Given the description of an element on the screen output the (x, y) to click on. 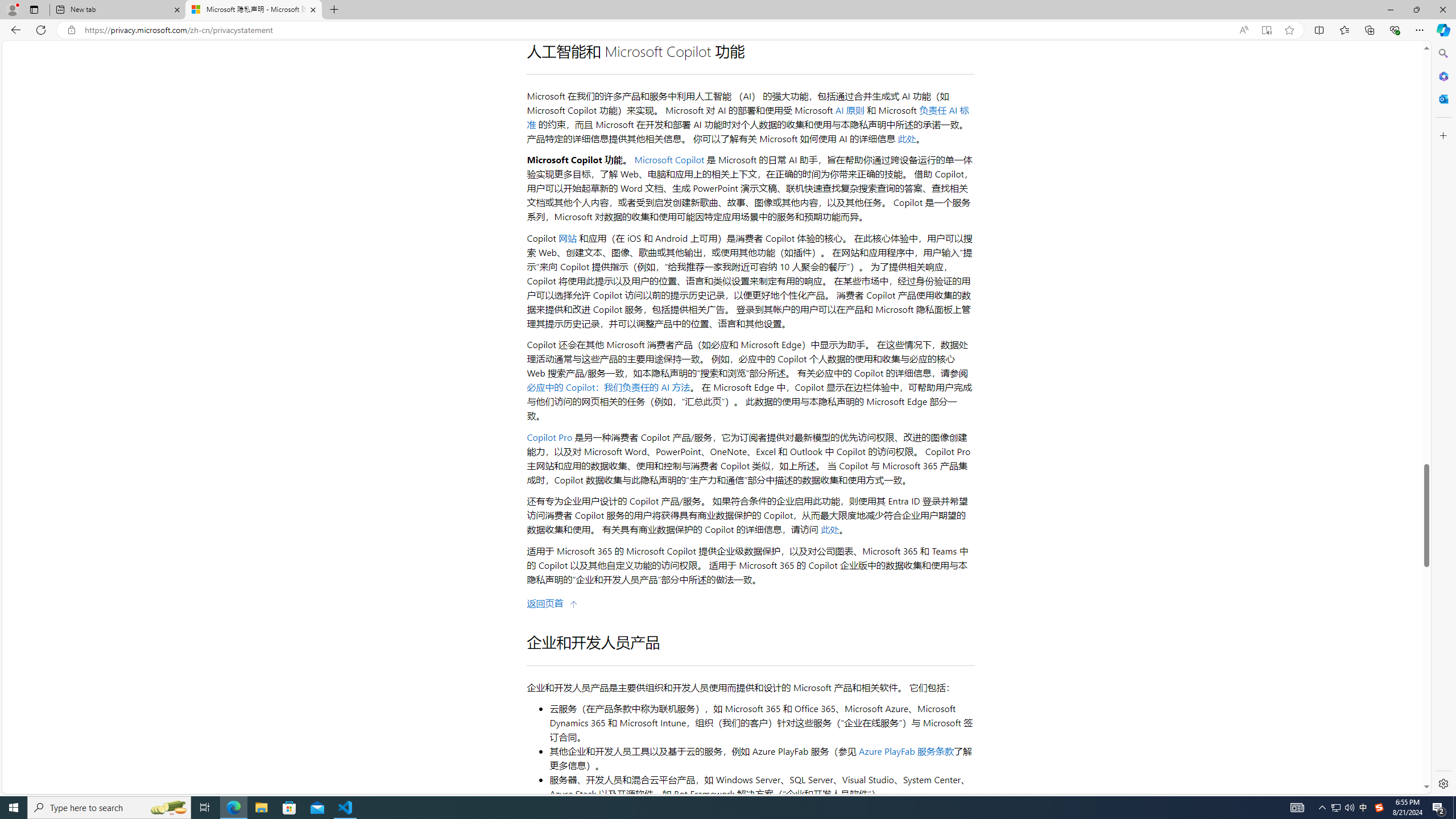
Enter Immersive Reader (F9) (1266, 29)
